Given the description of an element on the screen output the (x, y) to click on. 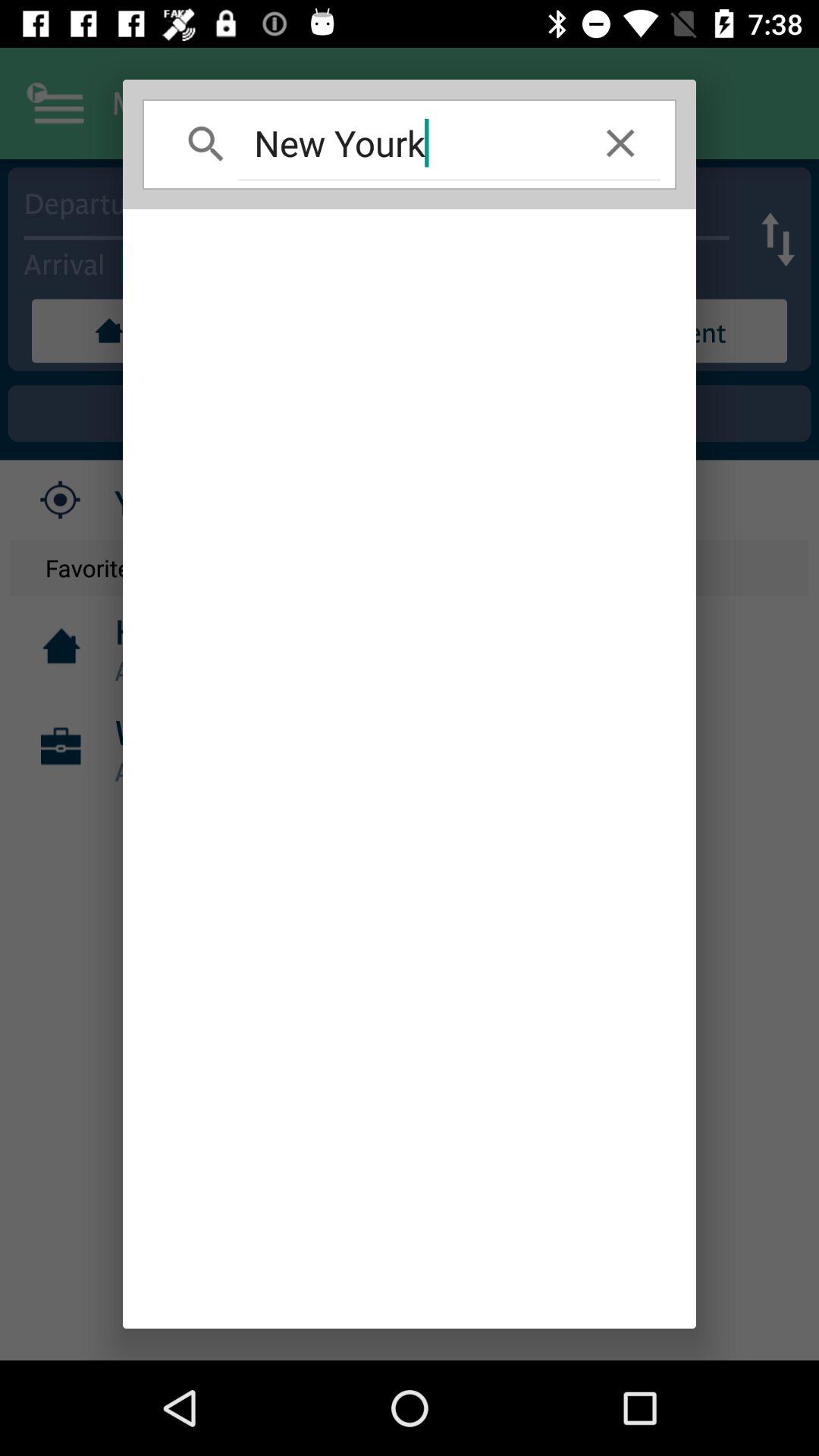
jump until the new yourk icon (409, 143)
